Given the description of an element on the screen output the (x, y) to click on. 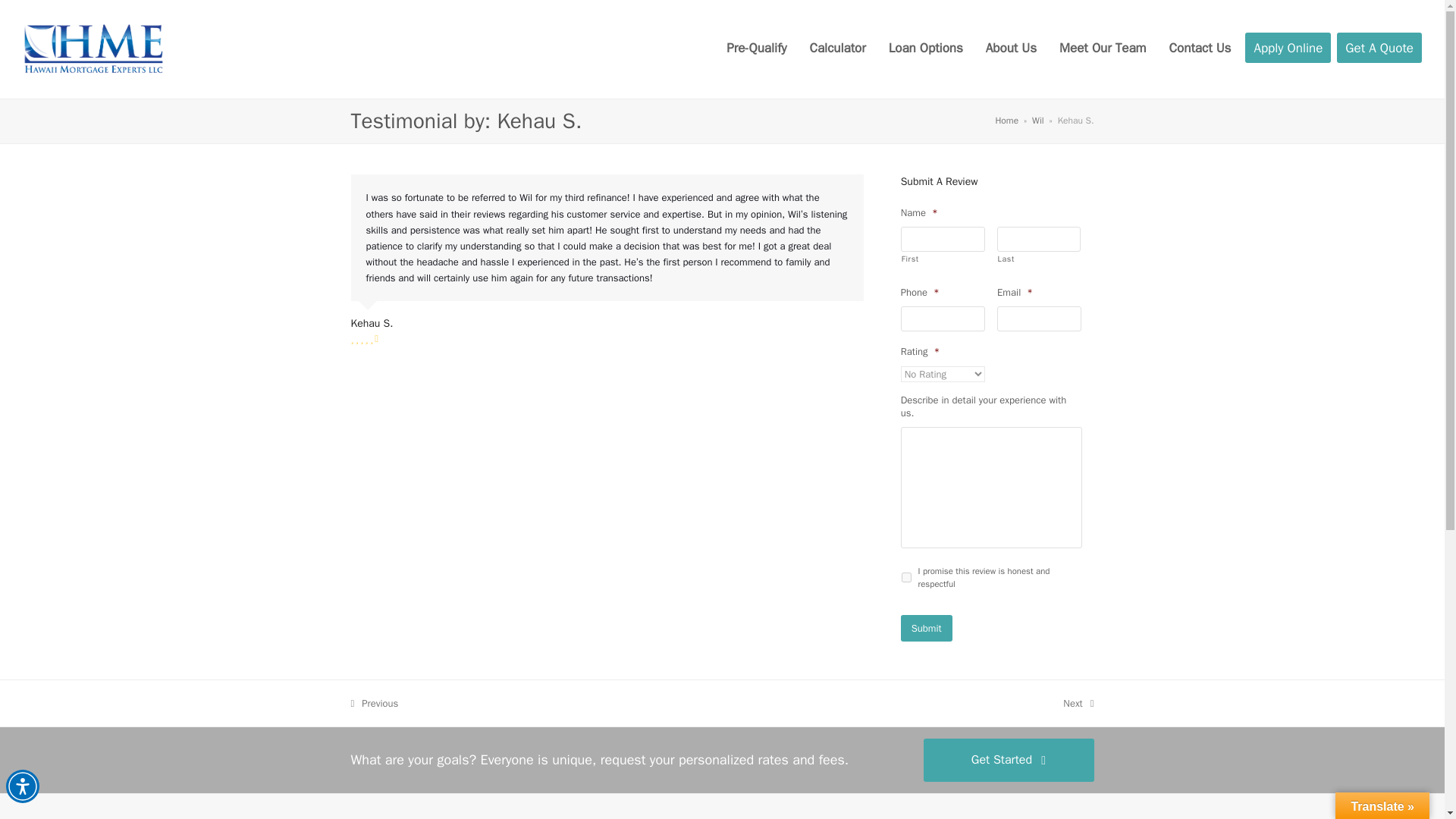
Contact Us (1200, 48)
Meet Our Team (1102, 48)
Home (1005, 120)
Submit (926, 628)
Wil (1037, 120)
Get A Quote (1379, 48)
Get Started (1008, 759)
Loan Options (925, 48)
Accessibility Menu (22, 786)
I promise this review is honest and respectful (906, 577)
Calculator (836, 48)
Apply Online (1077, 703)
About Us (1287, 48)
Get A Quote (1011, 48)
